Given the description of an element on the screen output the (x, y) to click on. 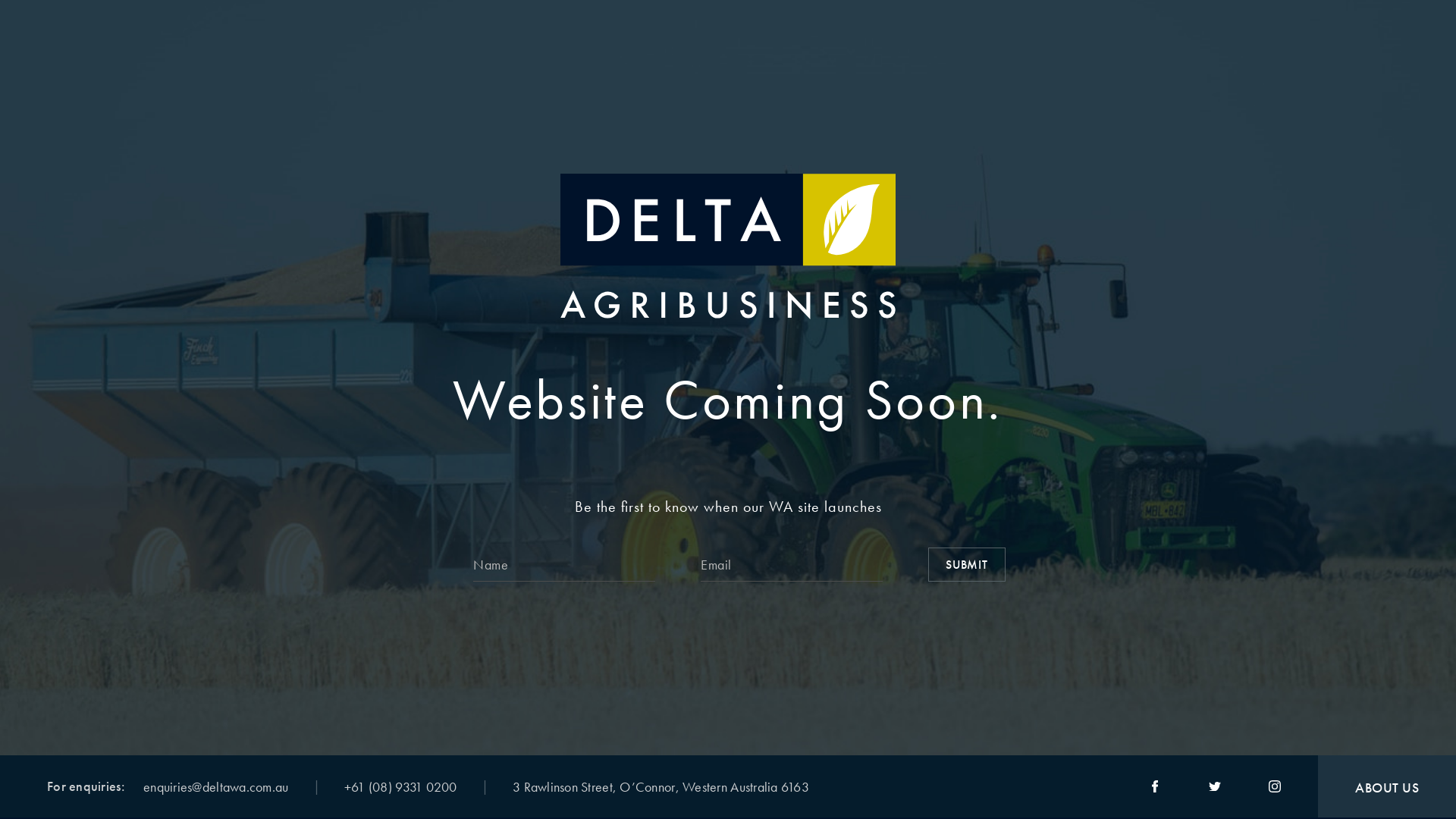
+61 (08) 9331 0200 Element type: text (400, 786)
enquiries@deltawa.com.au Element type: text (215, 786)
Submit Element type: text (966, 564)
